Given the description of an element on the screen output the (x, y) to click on. 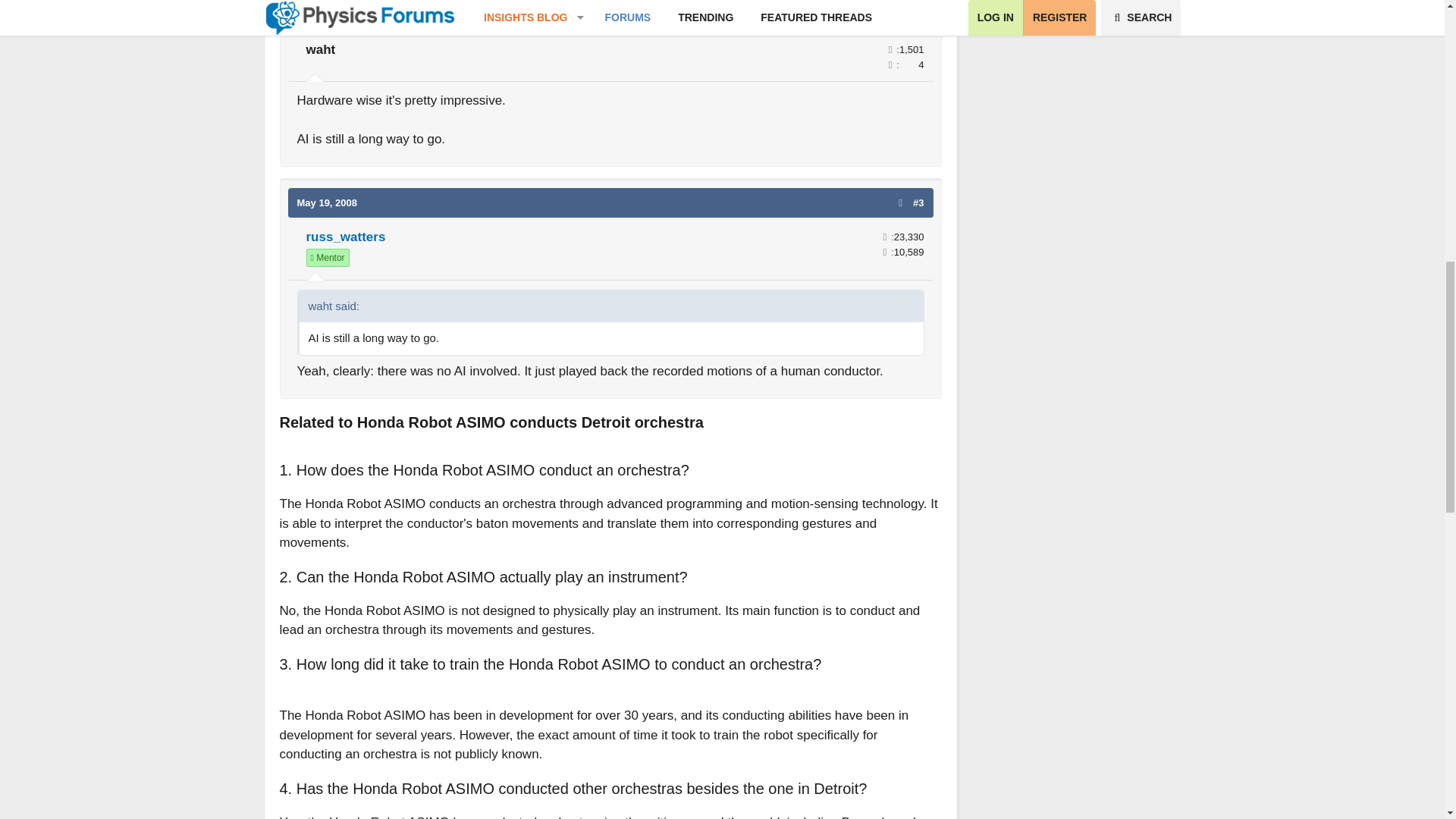
Messages (885, 236)
Reaction score (885, 252)
May 18, 2008 at 11:24 PM (327, 14)
May 19, 2008 at 4:32 AM (327, 202)
Reaction score (889, 63)
Messages (889, 49)
PF Community Staff (327, 257)
